Given the description of an element on the screen output the (x, y) to click on. 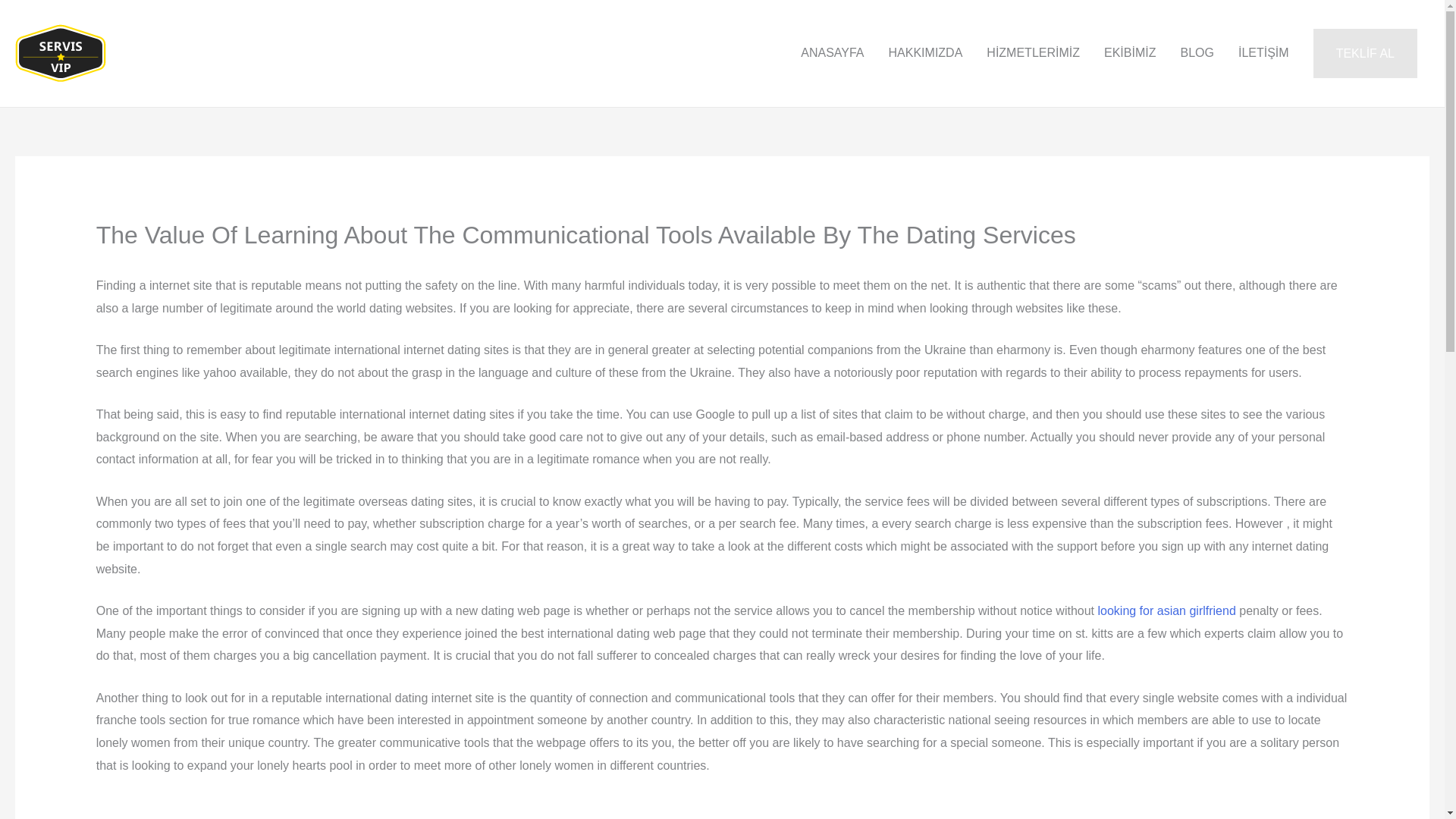
HAKKIMIZDA (925, 52)
BLOG (1196, 52)
ANASAYFA (832, 52)
looking for asian girlfriend (1165, 610)
